Given the description of an element on the screen output the (x, y) to click on. 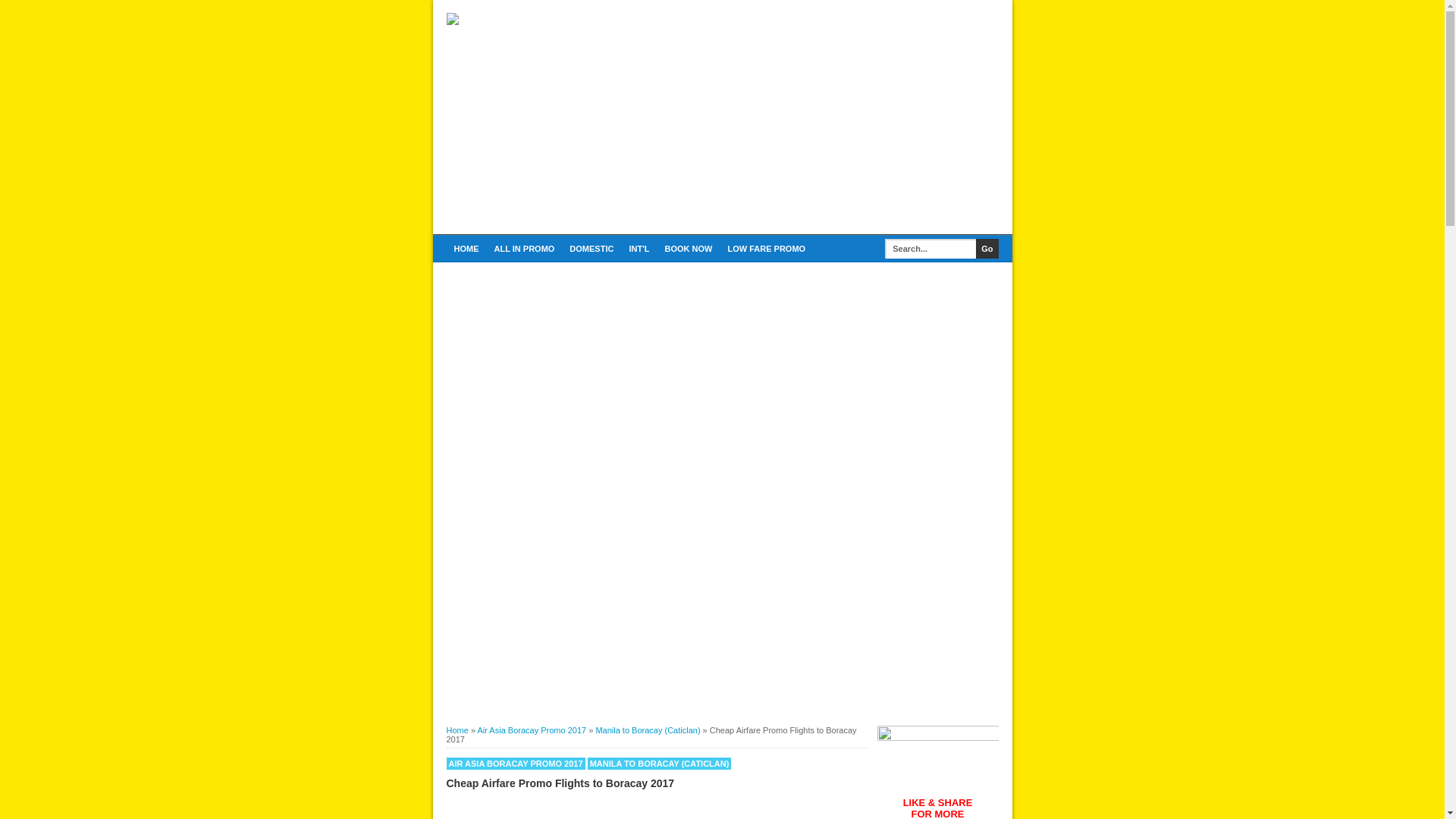
HOME Element type: text (465, 248)
Advertisement Element type: hover (721, 598)
AIR ASIA BORACAY PROMO 2017 Element type: text (514, 763)
Advertisement Element type: hover (820, 118)
DOMESTIC Element type: text (591, 248)
Advertisement Element type: hover (721, 375)
Home Element type: text (456, 729)
Air Asia Boracay Promo 2017 Element type: text (531, 729)
MANILA TO BORACAY (CATICLAN) Element type: text (659, 763)
Go Element type: text (986, 248)
BOOK NOW Element type: text (687, 248)
Manila to Boracay (Caticlan) Element type: text (647, 729)
INT'L Element type: text (638, 248)
LOW FARE PROMO Element type: text (765, 248)
ALL IN PROMO Element type: text (524, 248)
